Given the description of an element on the screen output the (x, y) to click on. 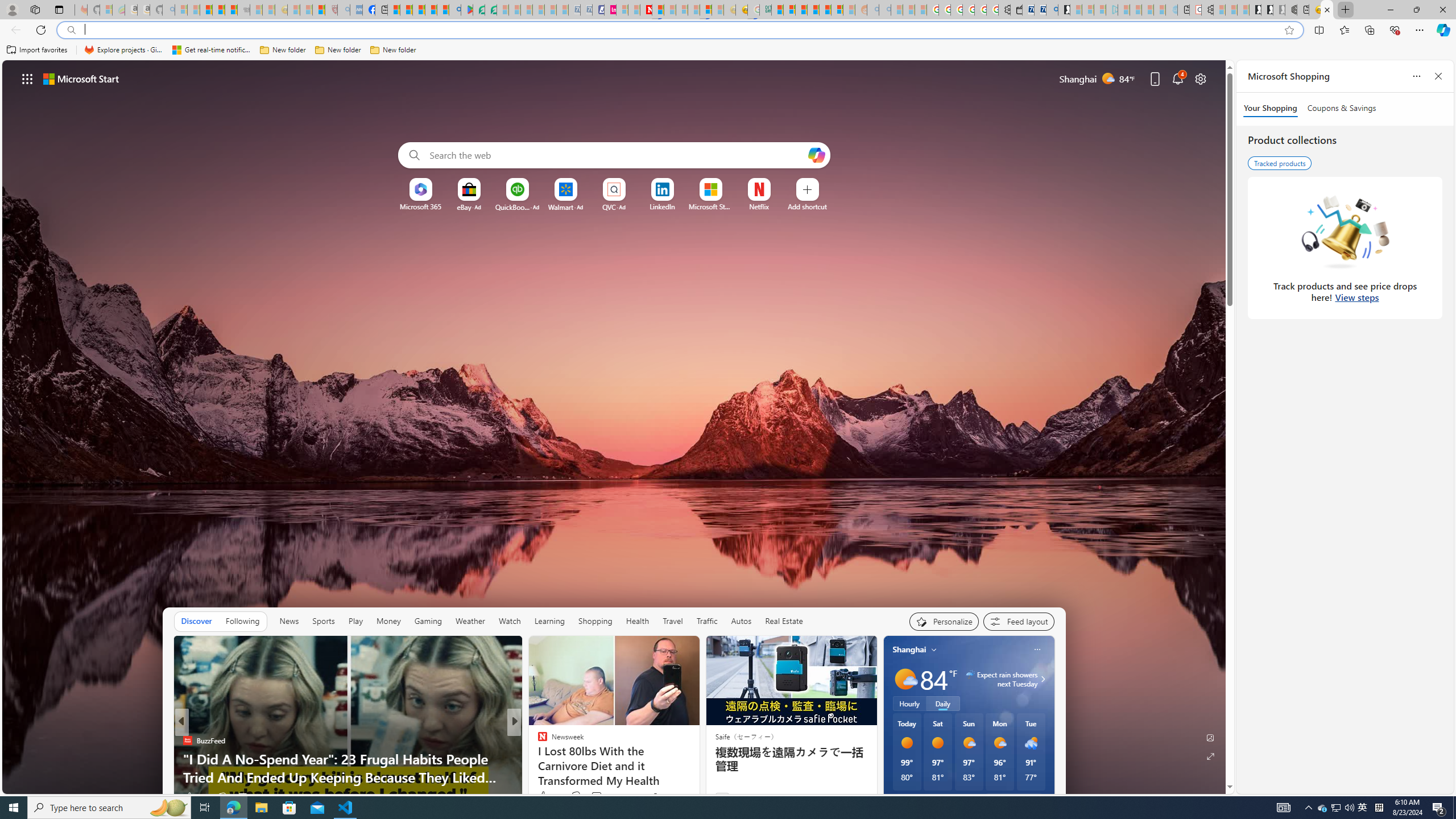
My location (934, 649)
Search icon (70, 29)
View comments 73 Comment (601, 795)
How to restart your PC with just the keyboard (697, 777)
View comments 30 Comment (597, 796)
Mostly sunny (999, 742)
Daily (942, 703)
Blake Lively's Go-To Dessert Is So Easy To Make (697, 777)
